Given the description of an element on the screen output the (x, y) to click on. 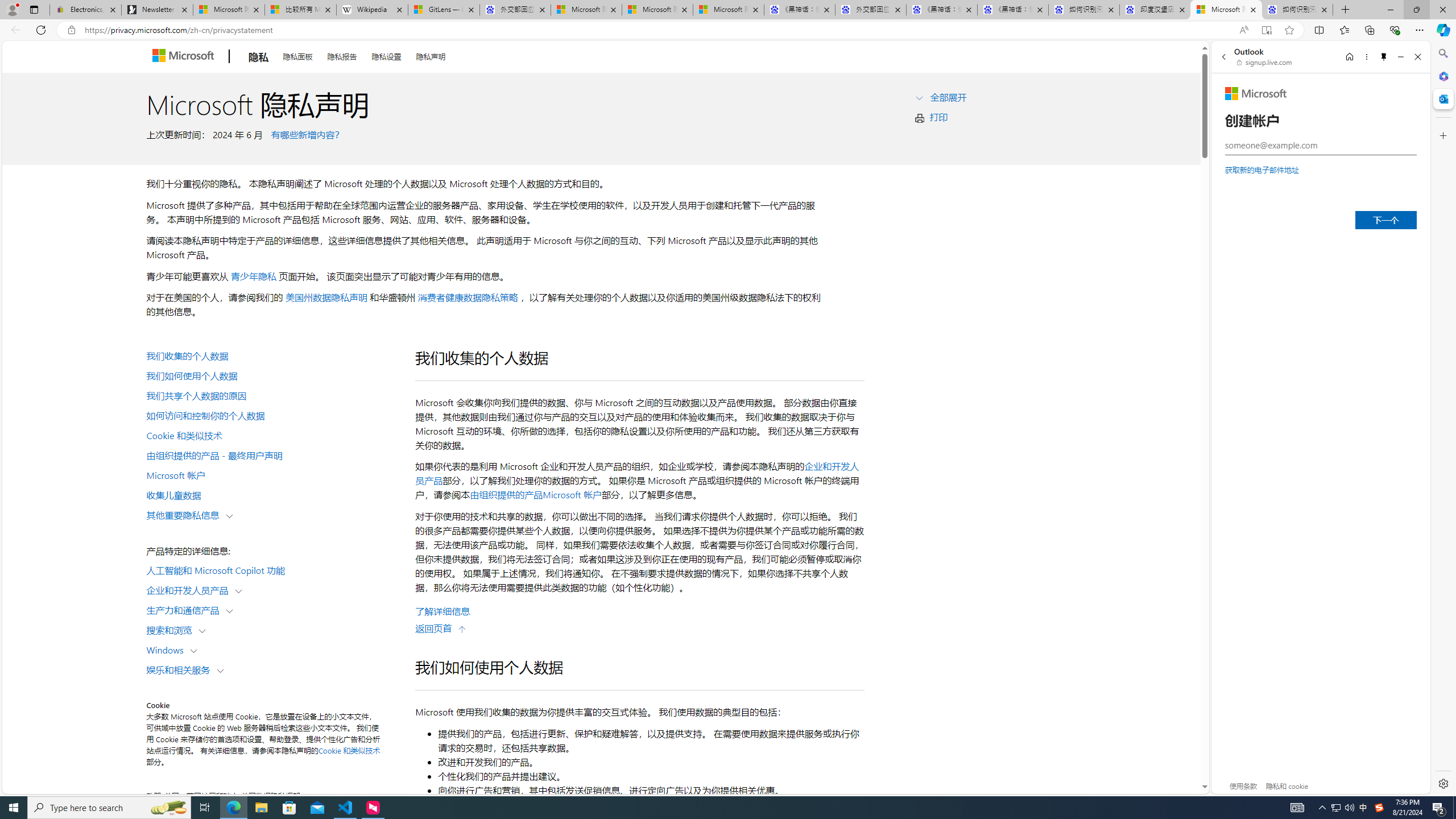
Windows (167, 649)
